Given the description of an element on the screen output the (x, y) to click on. 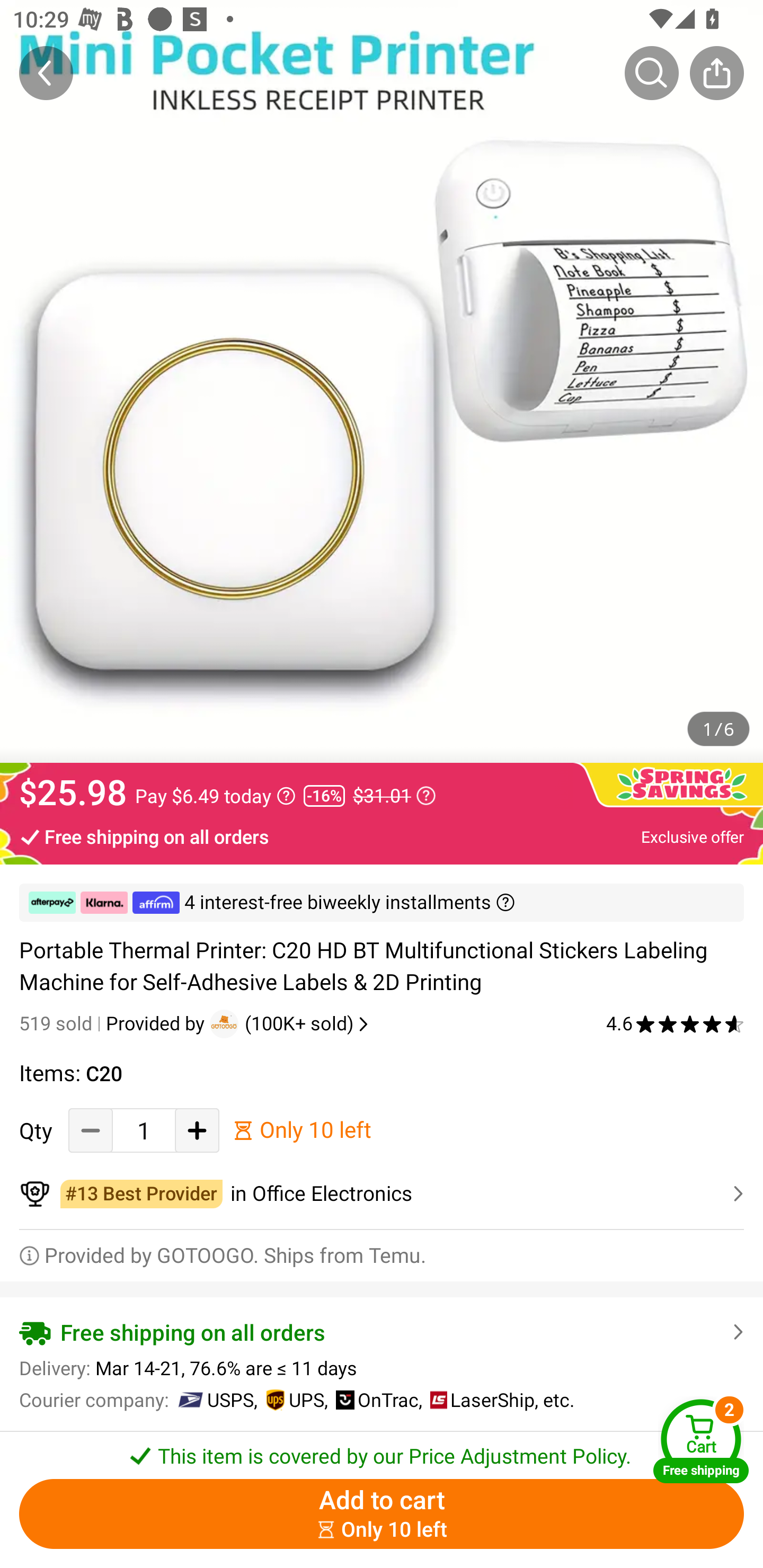
Back (46, 72)
Share (716, 72)
Pay $6.49 today   (215, 795)
Free shipping on all orders Exclusive offer (381, 836)
￼ ￼ ￼ 4 interest-free biweekly installments ￼ (381, 902)
519 sold Provided by  (114, 1023)
4.6 (674, 1023)
Decrease Quantity Button (90, 1130)
1 (143, 1130)
Add Quantity button (196, 1130)
￼￼in Office Electronics (381, 1193)
Cart Free shipping Cart (701, 1440)
Add to cart ￼￼Only 10 left (381, 1513)
